Given the description of an element on the screen output the (x, y) to click on. 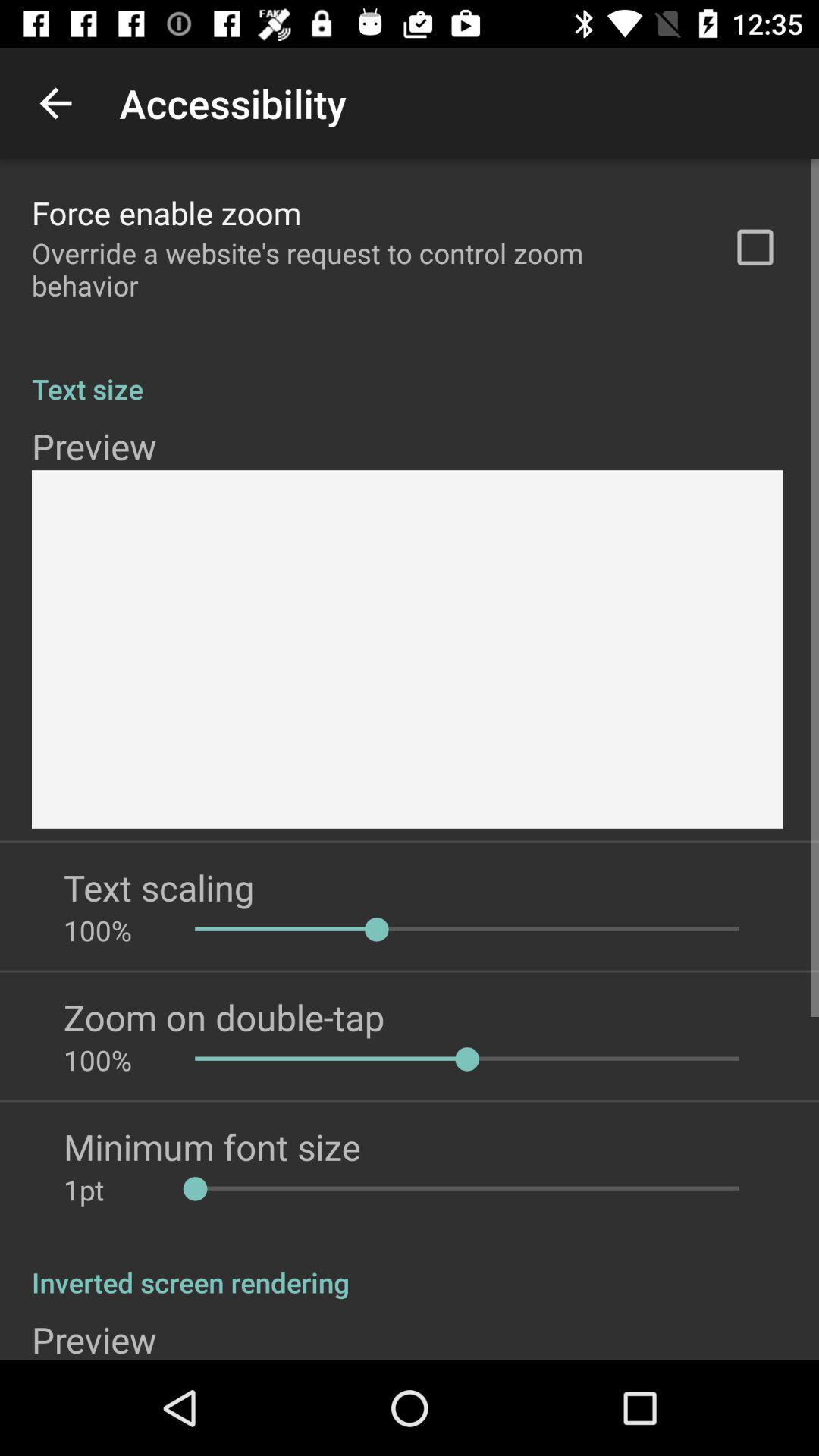
scroll until the 1pt item (113, 1189)
